Given the description of an element on the screen output the (x, y) to click on. 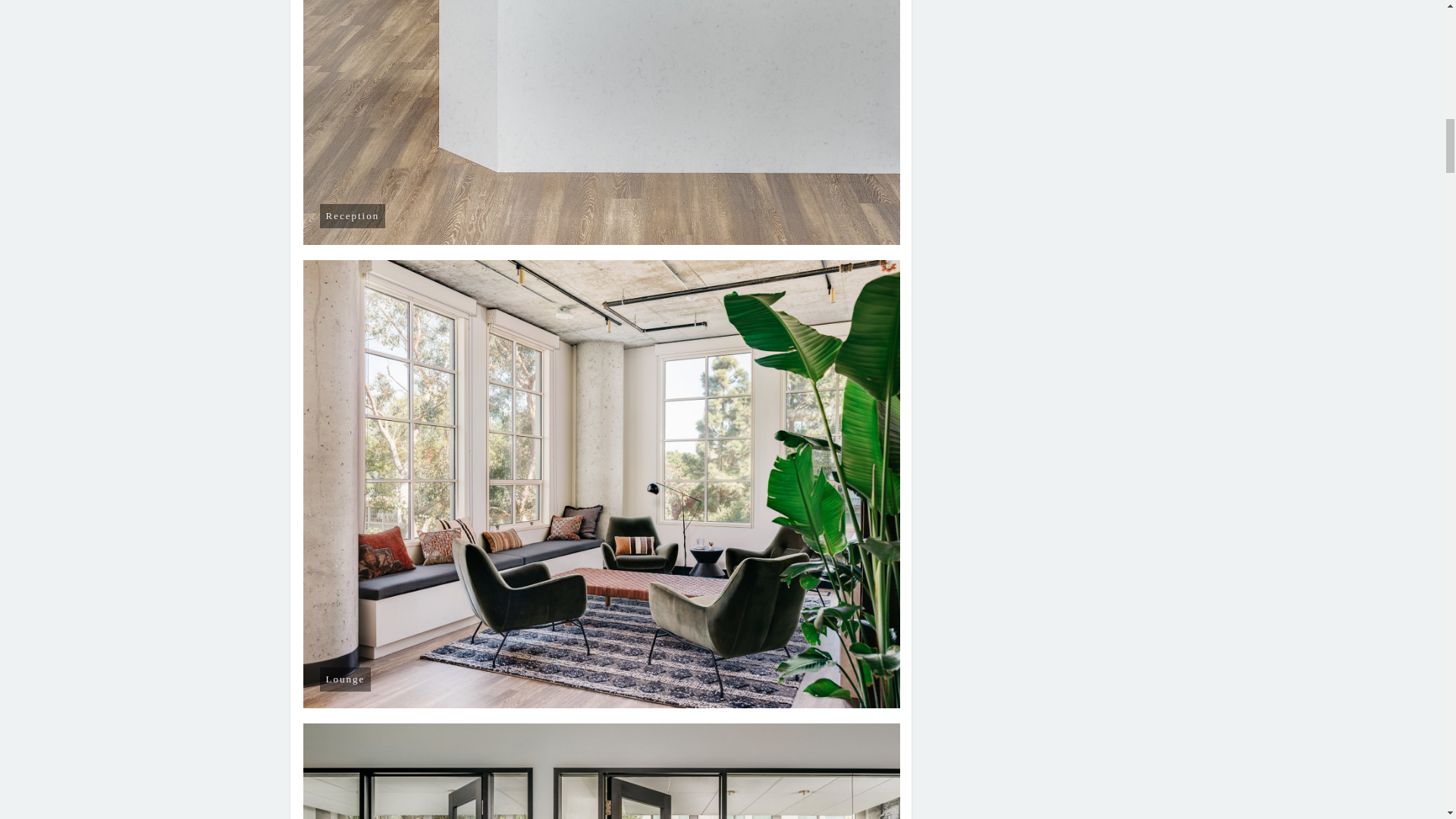
Meeting rooms (601, 771)
